Given the description of an element on the screen output the (x, y) to click on. 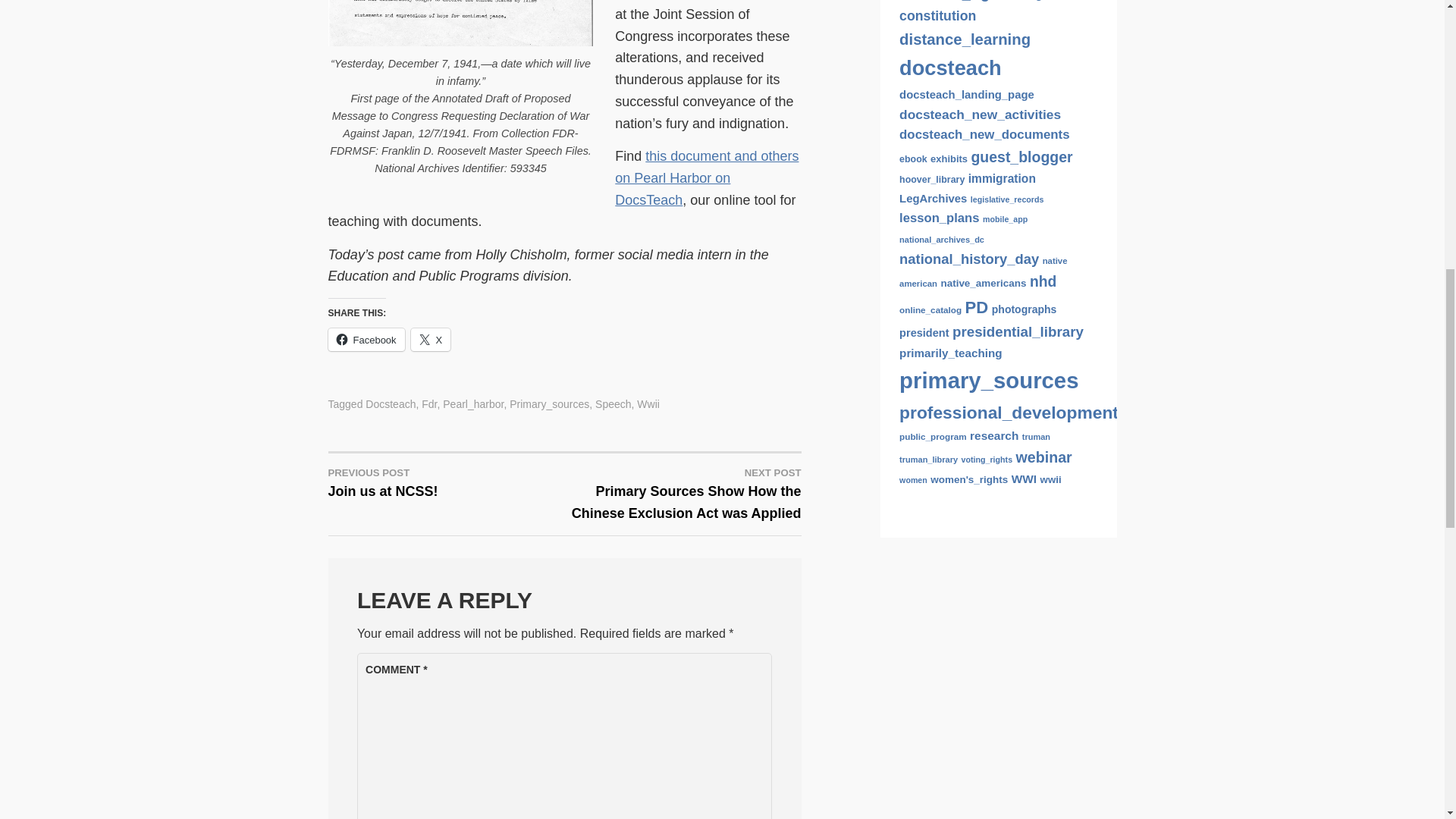
exhibits (949, 282)
docsteach (950, 191)
Docsteach (389, 404)
Civics (914, 117)
Speech (612, 404)
this document and others on Pearl Harbor on DocsTeach (705, 178)
app (954, 95)
Fdr (429, 404)
bill of rights (994, 95)
X (430, 339)
